Given the description of an element on the screen output the (x, y) to click on. 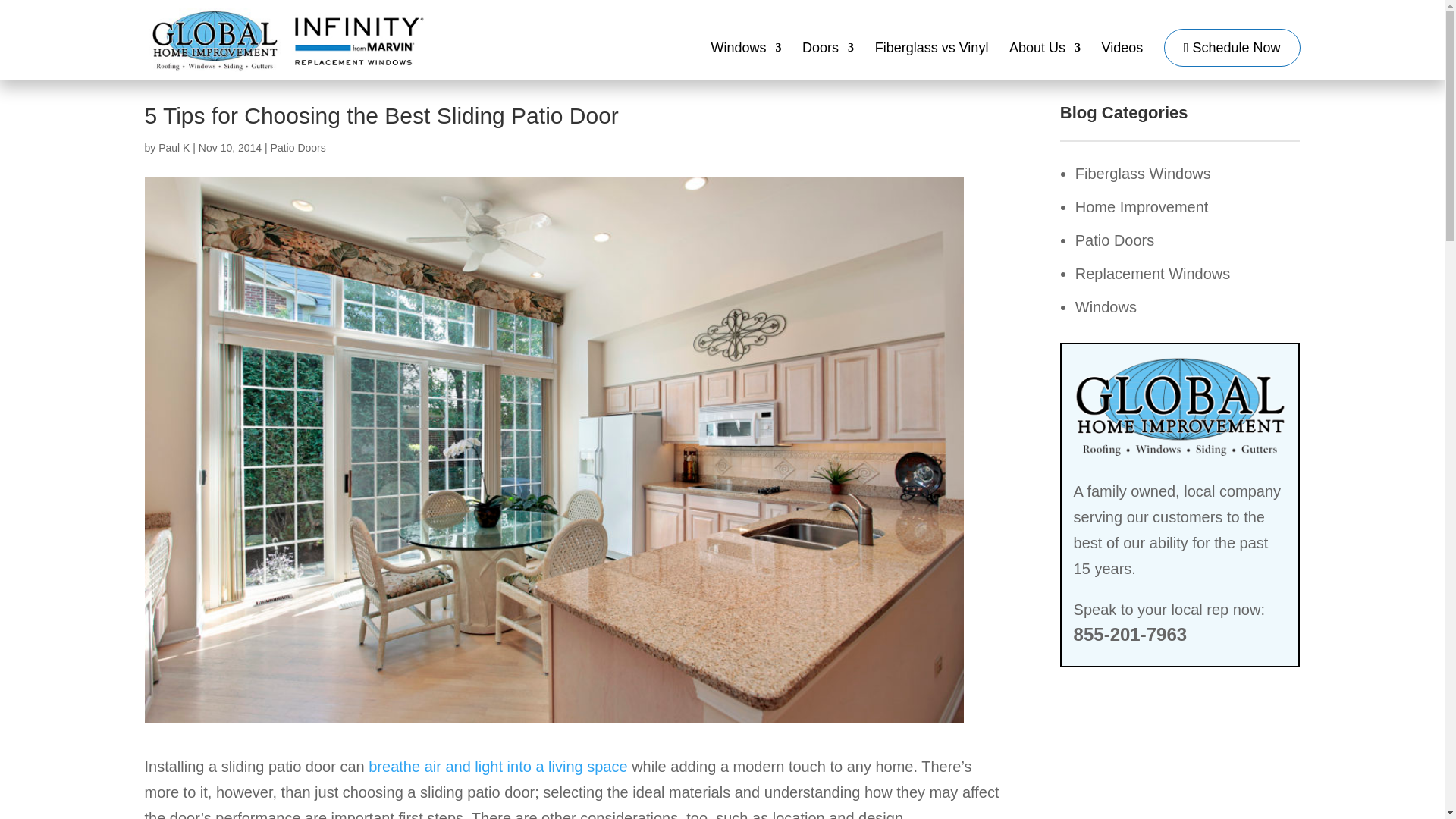
Posts by Paul K (173, 147)
Dex Knows (497, 766)
Windows (745, 60)
Doors (827, 60)
Videos (1122, 60)
Schedule Now (1231, 47)
About Us (1044, 60)
Fiberglass vs Vinyl (931, 60)
